Given the description of an element on the screen output the (x, y) to click on. 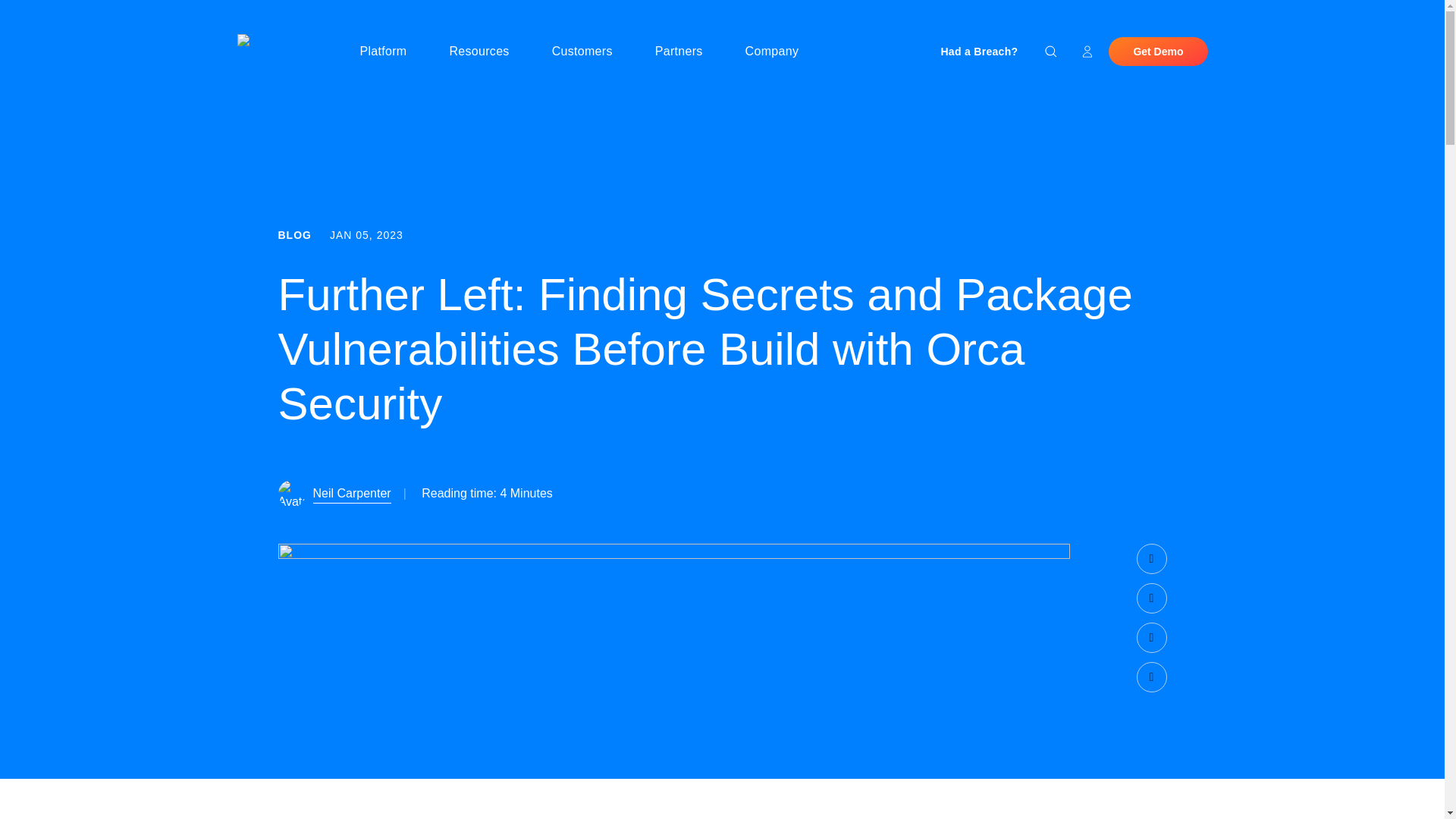
Platform (388, 51)
Resources (484, 51)
